Given the description of an element on the screen output the (x, y) to click on. 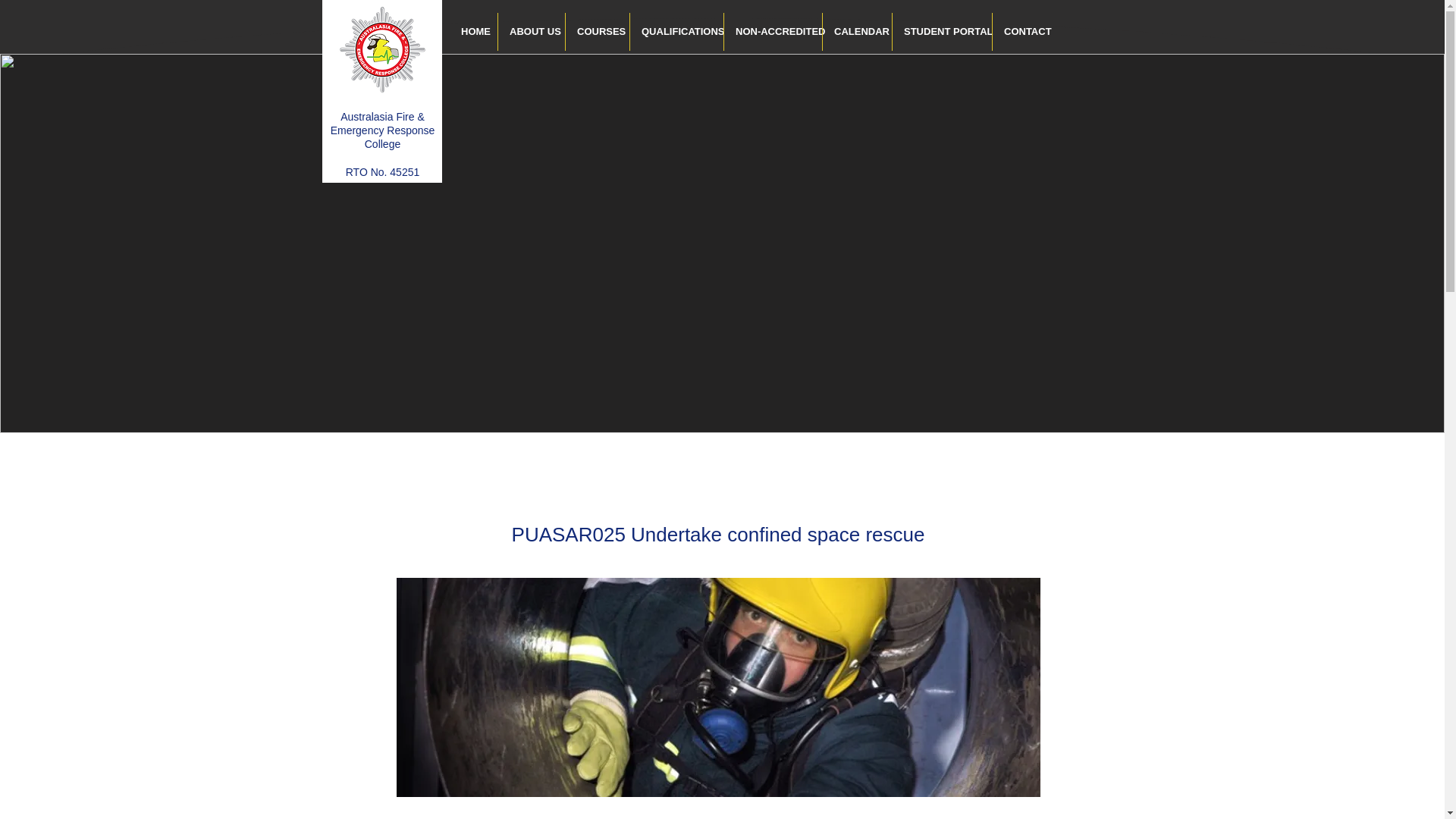
QUALIFICATIONS (676, 31)
ABOUT US (530, 31)
STUDENT PORTAL (941, 31)
CALENDAR (856, 31)
COURSES (597, 31)
NON-ACCREDITED (772, 31)
HOME (473, 31)
